Given the description of an element on the screen output the (x, y) to click on. 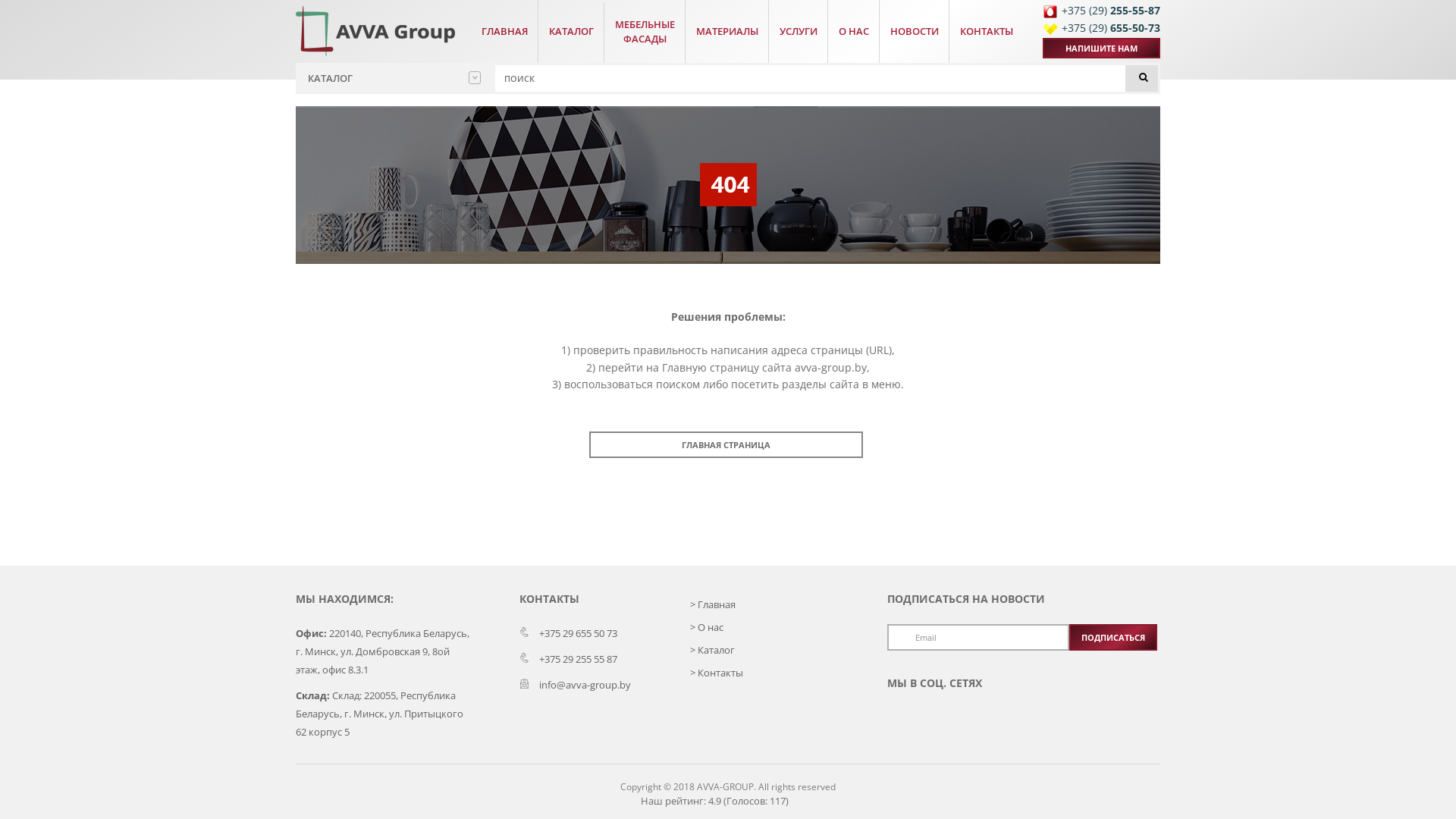
AVVA Element type: hover (375, 29)
info@avva-group.by Element type: text (574, 684)
+375 29 655 50 73 Element type: text (568, 633)
+375 29 255 55 87 Element type: text (568, 658)
AVVA Element type: hover (375, 31)
Error 404 Element type: hover (727, 184)
+375 (29) 655-50-73 Element type: text (1101, 28)
+375 (29) 255-55-87 Element type: text (1101, 11)
